Given the description of an element on the screen output the (x, y) to click on. 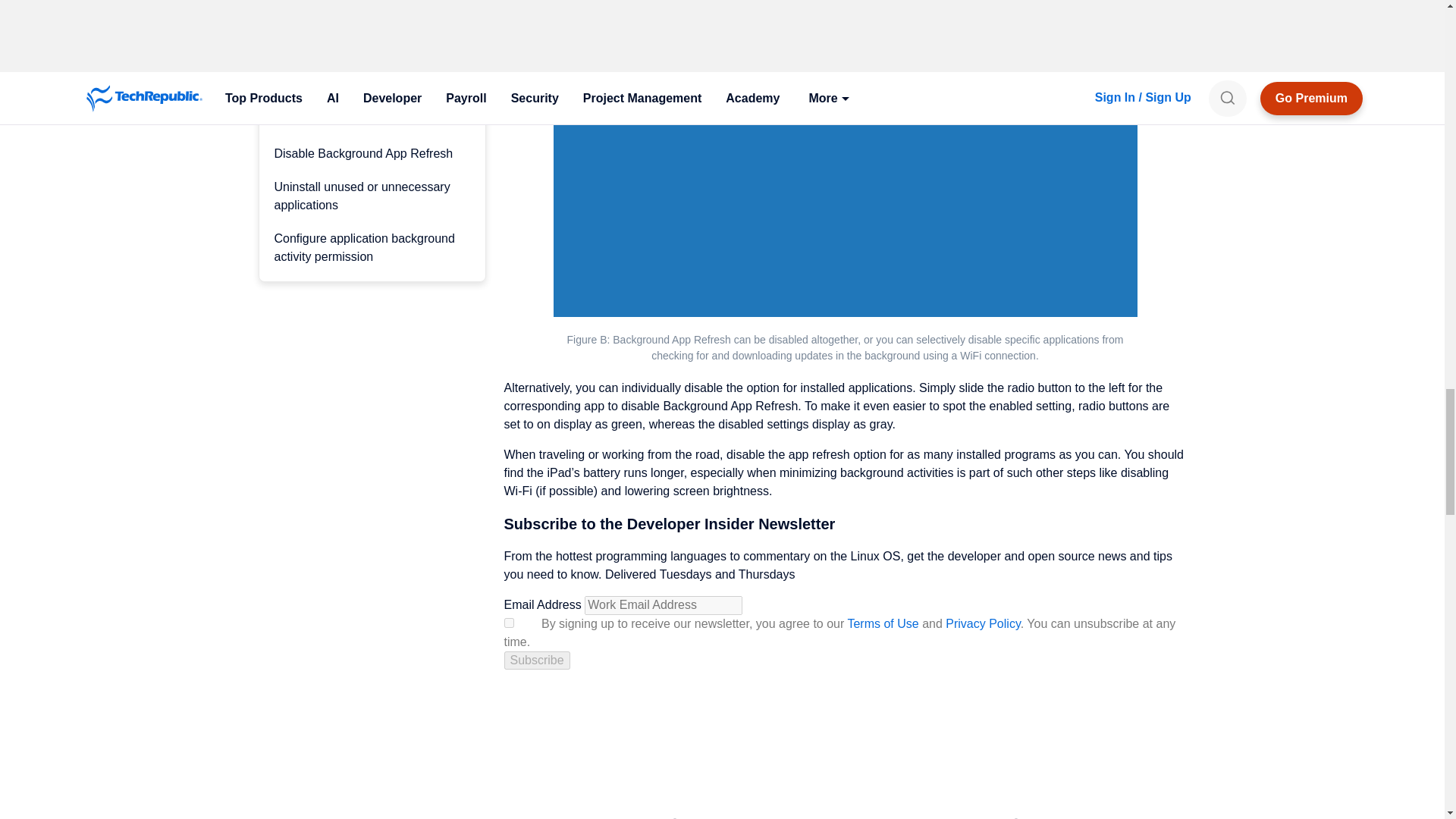
on (508, 623)
